Given the description of an element on the screen output the (x, y) to click on. 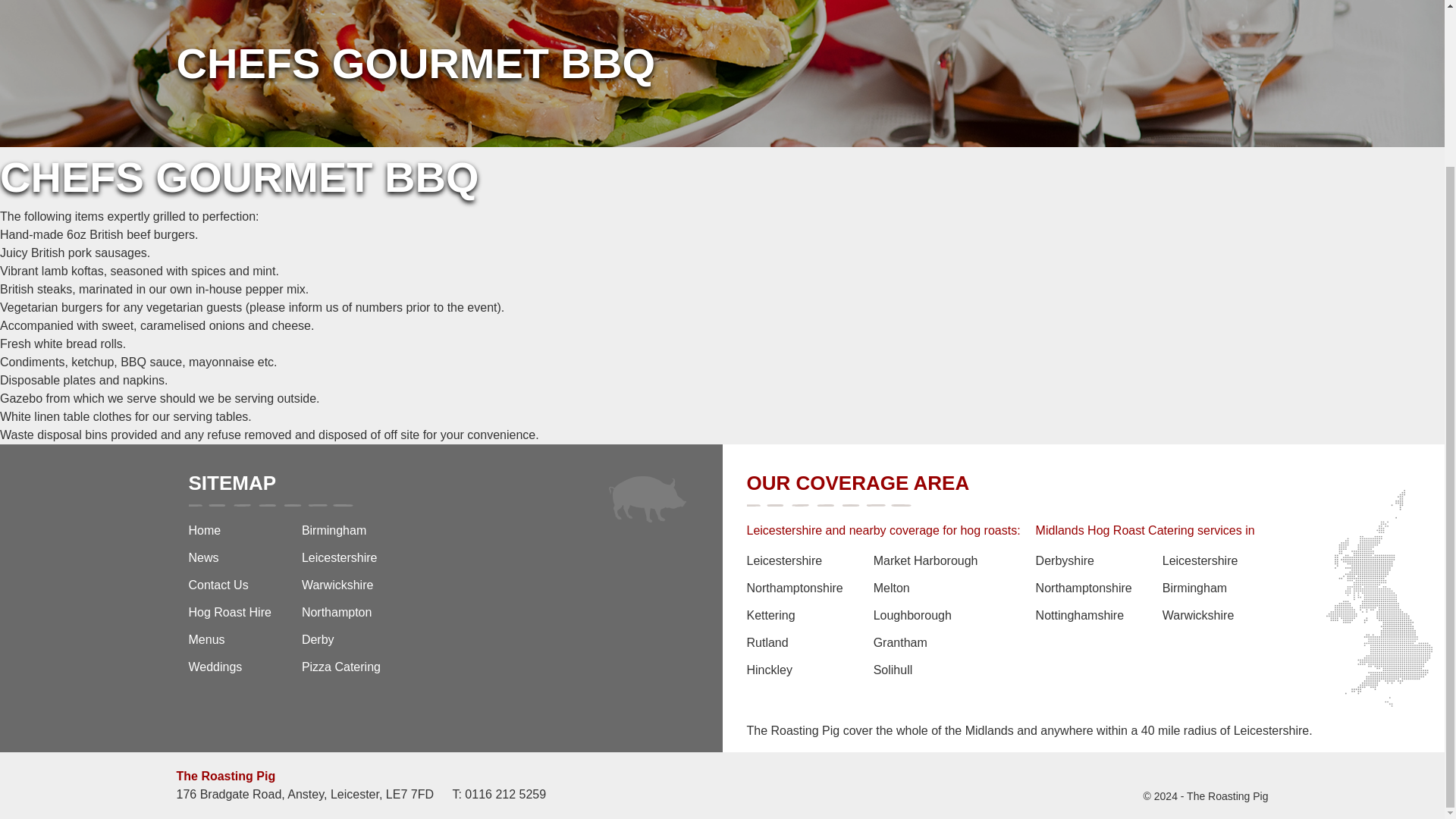
Hinckley (794, 674)
Leicestershire (1200, 565)
Nottinghamshire (1083, 619)
Kettering (794, 619)
Grantham (925, 646)
Warwickshire (340, 589)
Rutland (794, 646)
Northamptonshire (1083, 592)
Menus (228, 644)
Home (228, 534)
